Given the description of an element on the screen output the (x, y) to click on. 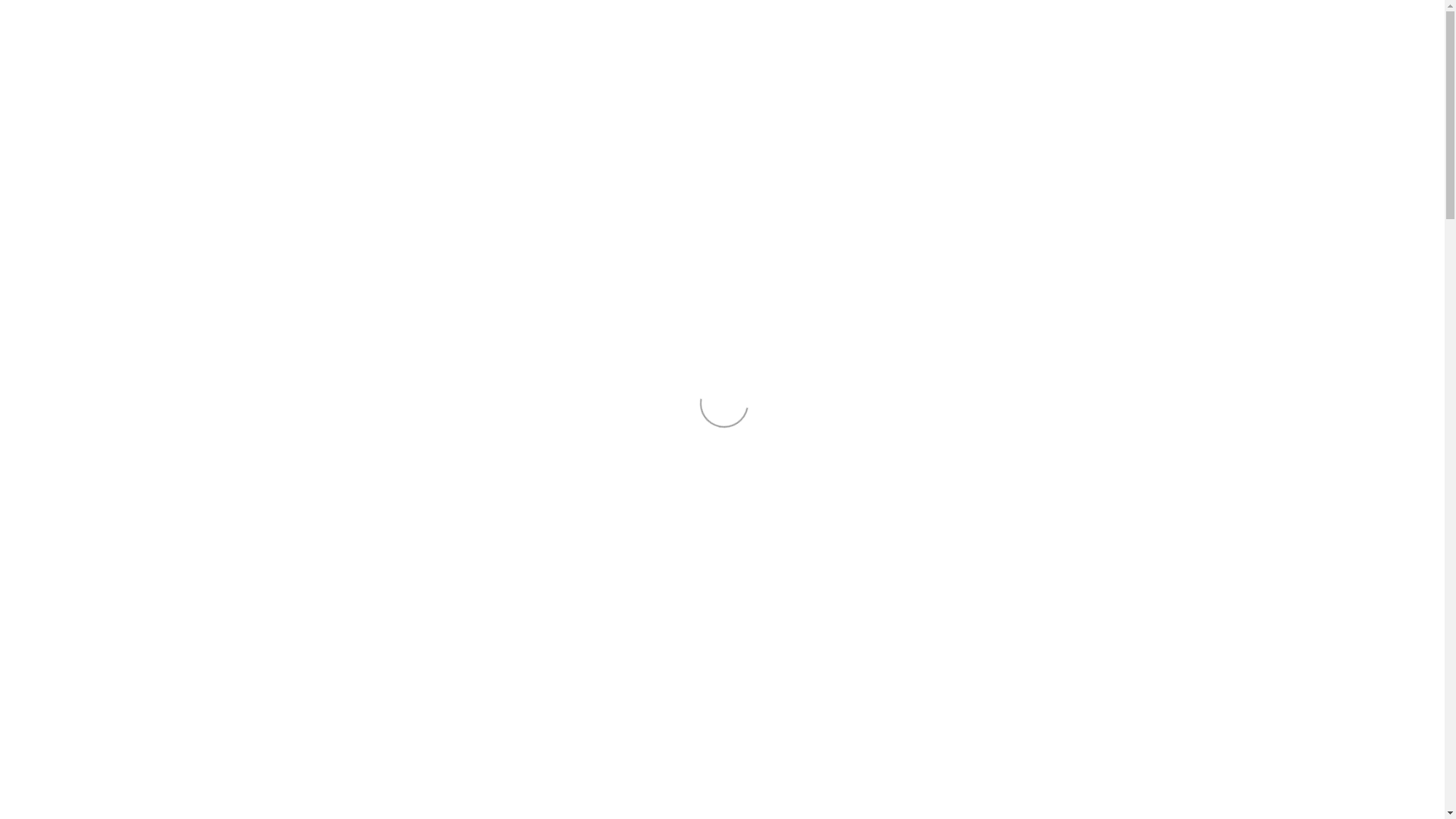
ABOUT Element type: text (1059, 144)
CLIENTS Element type: text (1059, 175)
CONTACTS Element type: text (1059, 236)
SERVICES Element type: text (1059, 206)
